Given the description of an element on the screen output the (x, y) to click on. 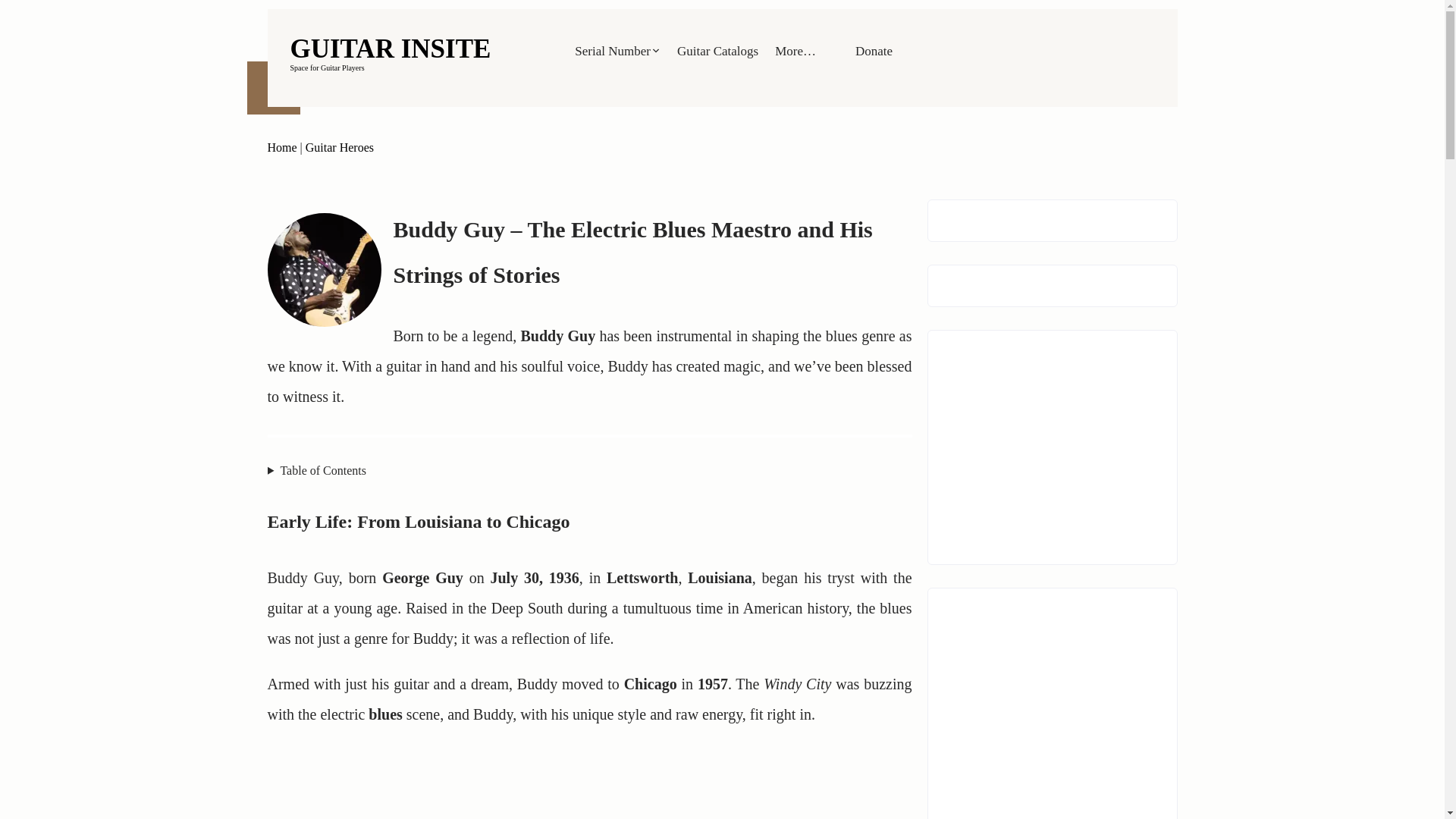
buddy guy (323, 269)
Serial Number (617, 51)
Guitar Heroes (339, 146)
Guitar Catalogs (389, 48)
Home (717, 51)
